Given the description of an element on the screen output the (x, y) to click on. 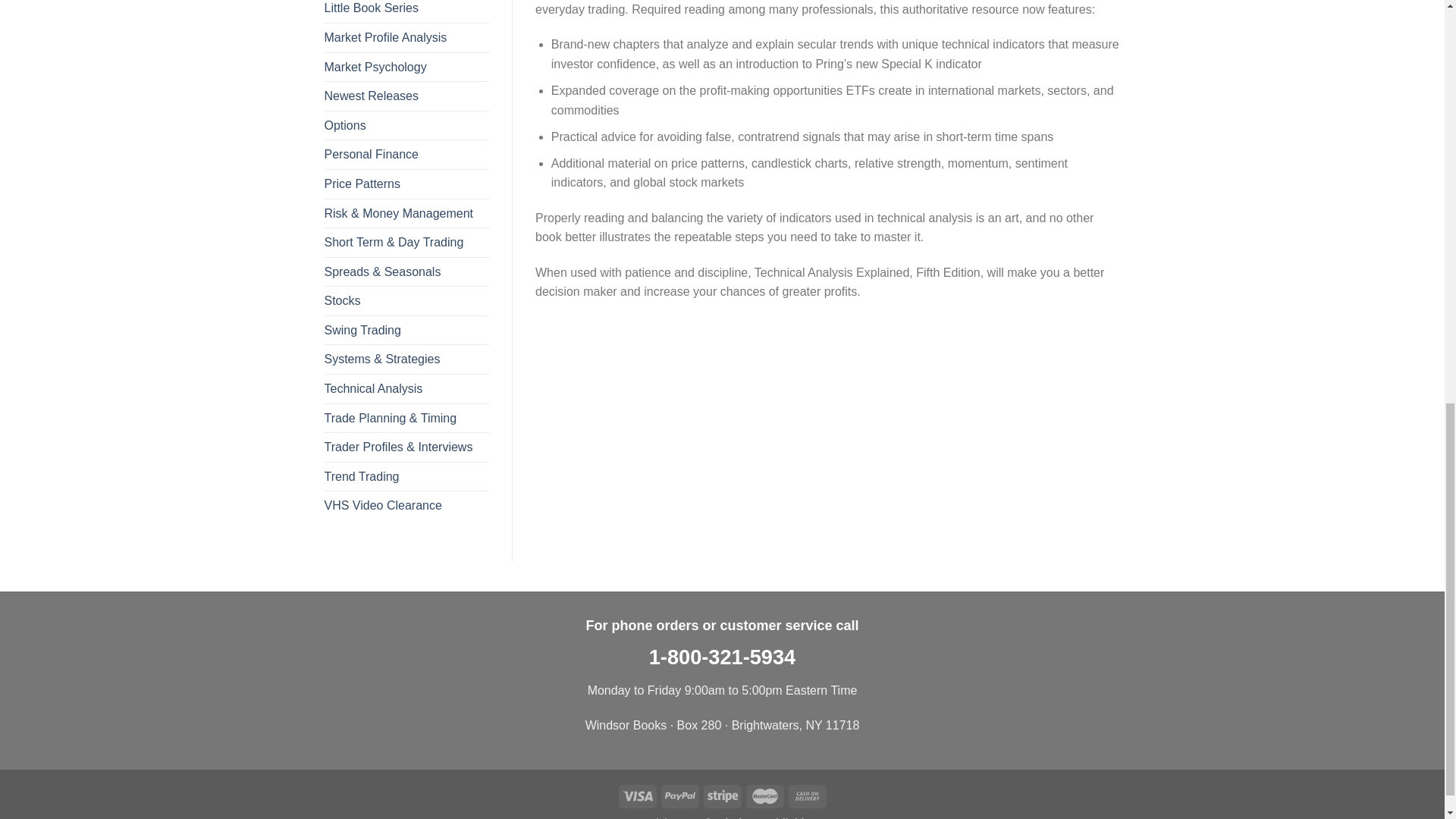
Price Patterns (406, 184)
Market Psychology (406, 67)
Personal Finance (406, 154)
Newest Releases (406, 95)
Market Profile Analysis (406, 37)
Little Book Series (406, 11)
Options (406, 125)
